Given the description of an element on the screen output the (x, y) to click on. 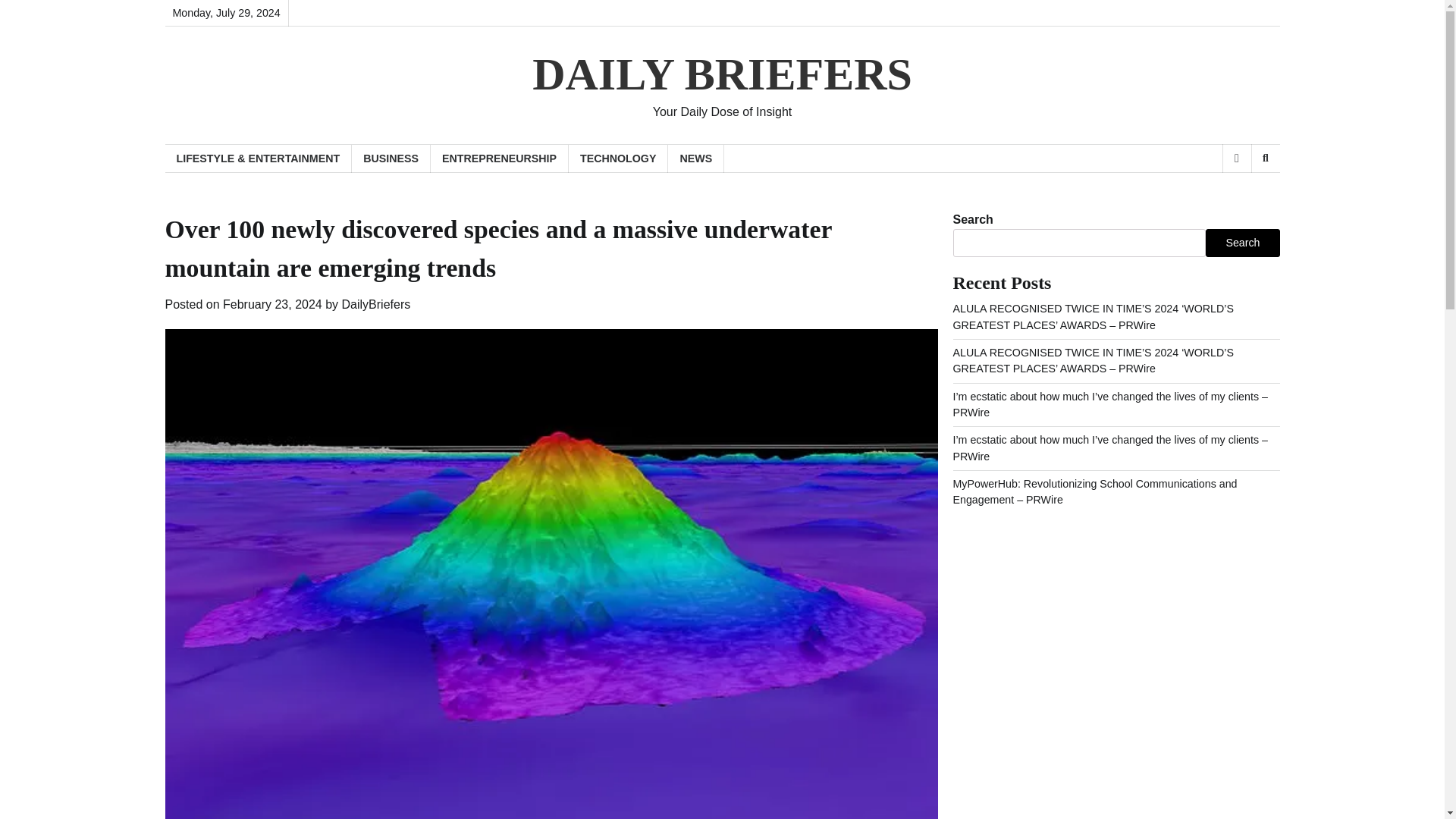
TECHNOLOGY (618, 158)
February 23, 2024 (271, 304)
DailyBriefers (376, 304)
Search (1264, 158)
DAILY BRIEFERS (722, 74)
BUSINESS (391, 158)
ENTREPRENEURSHIP (499, 158)
Search (1240, 197)
NEWS (695, 158)
Search (1242, 242)
View Random Post (1236, 158)
